Given the description of an element on the screen output the (x, y) to click on. 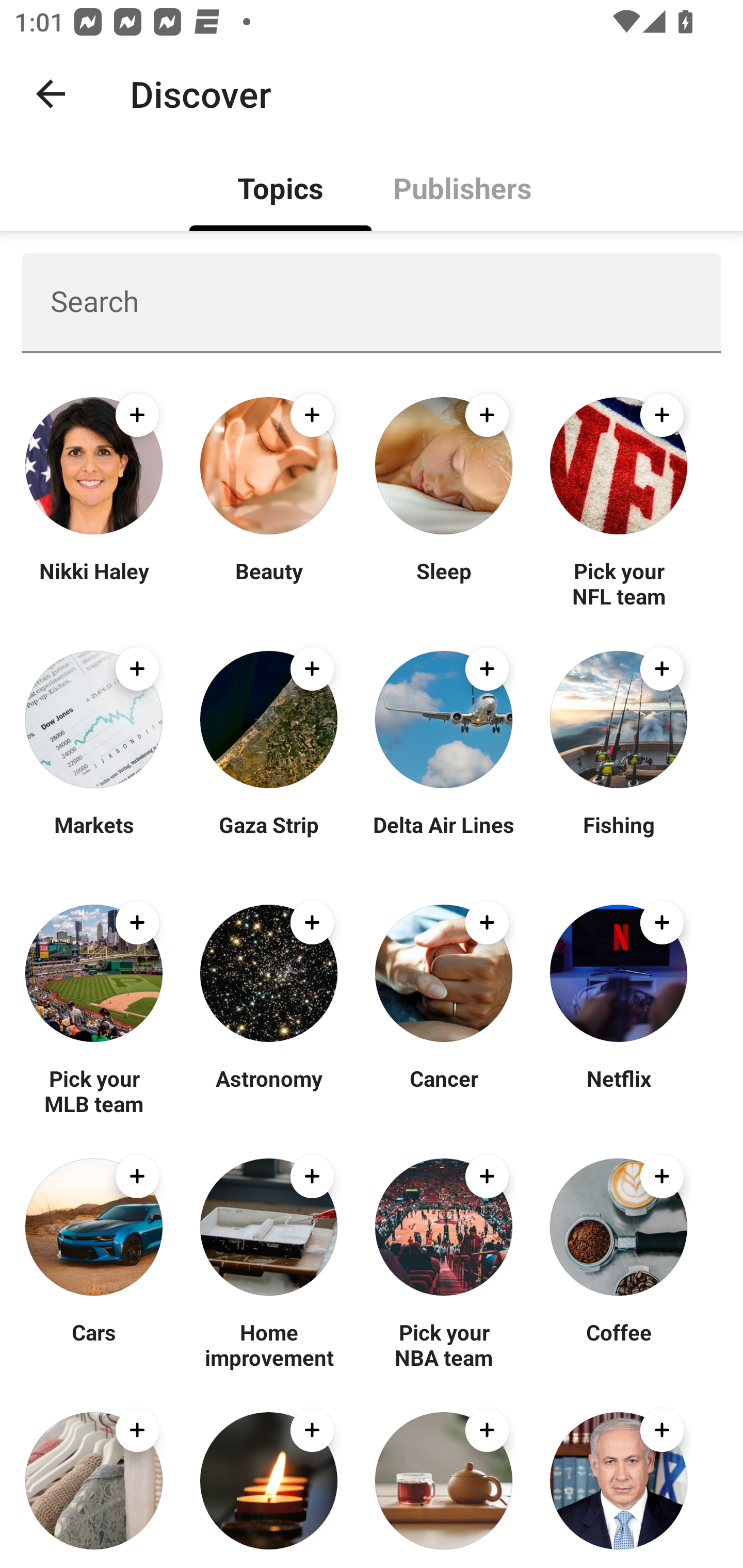
Publishers (462, 187)
Search (371, 302)
Nikki Haley (93, 582)
Beauty (268, 582)
Sleep (443, 582)
Pick your NFL team (618, 582)
Markets (93, 836)
Gaza Strip (268, 836)
Delta Air Lines (443, 836)
Fishing (618, 836)
Pick your MLB team (93, 1090)
Astronomy (268, 1090)
Cancer (443, 1090)
Netflix (618, 1090)
Cars (93, 1344)
Home improvement (268, 1344)
Pick your NBA team (443, 1344)
Coffee (618, 1344)
